Given the description of an element on the screen output the (x, y) to click on. 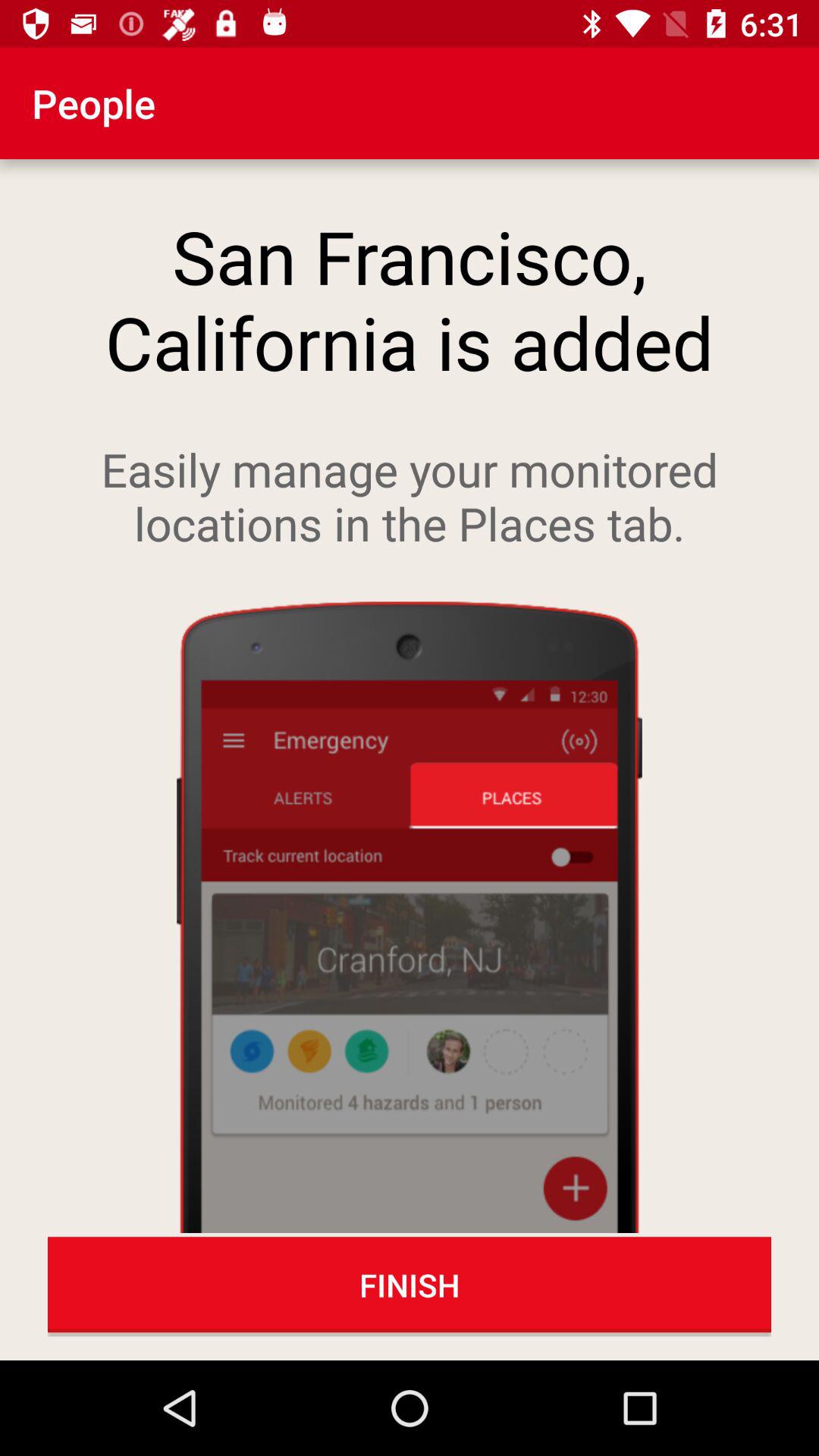
scroll to finish item (409, 1284)
